Given the description of an element on the screen output the (x, y) to click on. 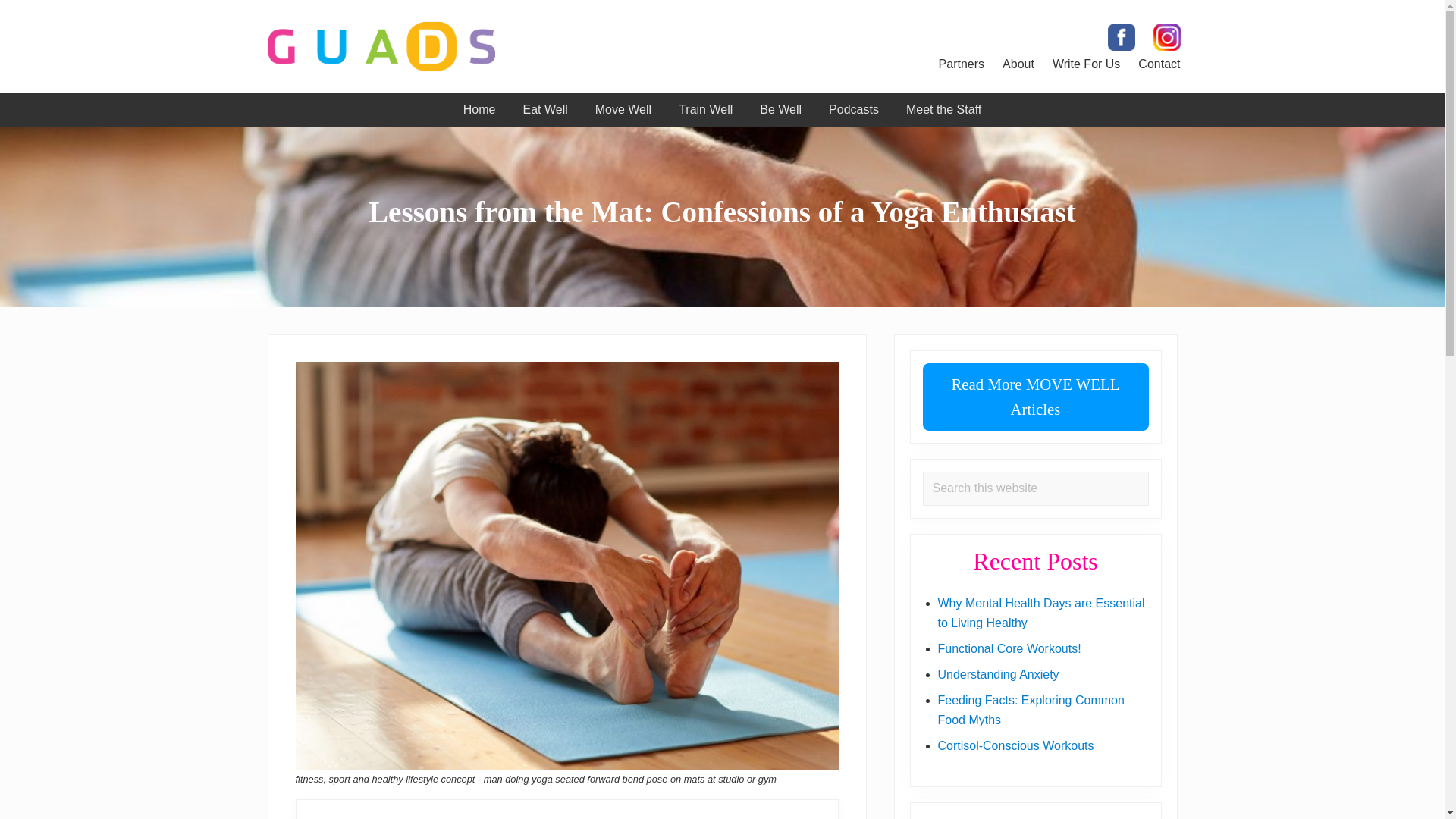
Write For Us (1085, 64)
Partners (961, 64)
Train Well (705, 109)
Meet the Staff (943, 109)
Contact (1159, 64)
Move Well (622, 109)
Podcasts (853, 109)
